Given the description of an element on the screen output the (x, y) to click on. 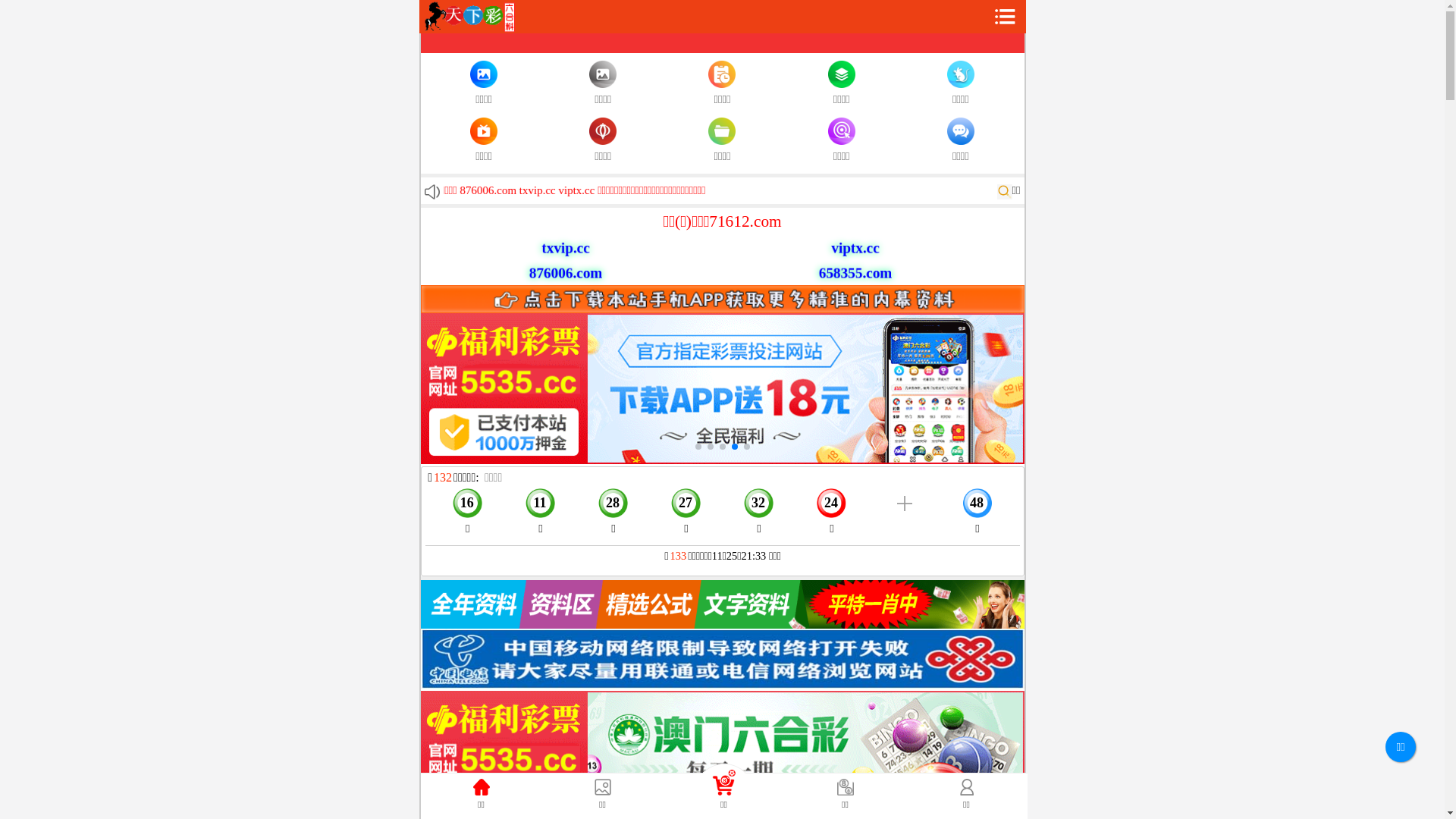
876006.com Element type: text (558, 272)
658355.com Element type: text (844, 272)
viptx.cc Element type: text (850, 247)
txvip.cc Element type: text (562, 247)
